Given the description of an element on the screen output the (x, y) to click on. 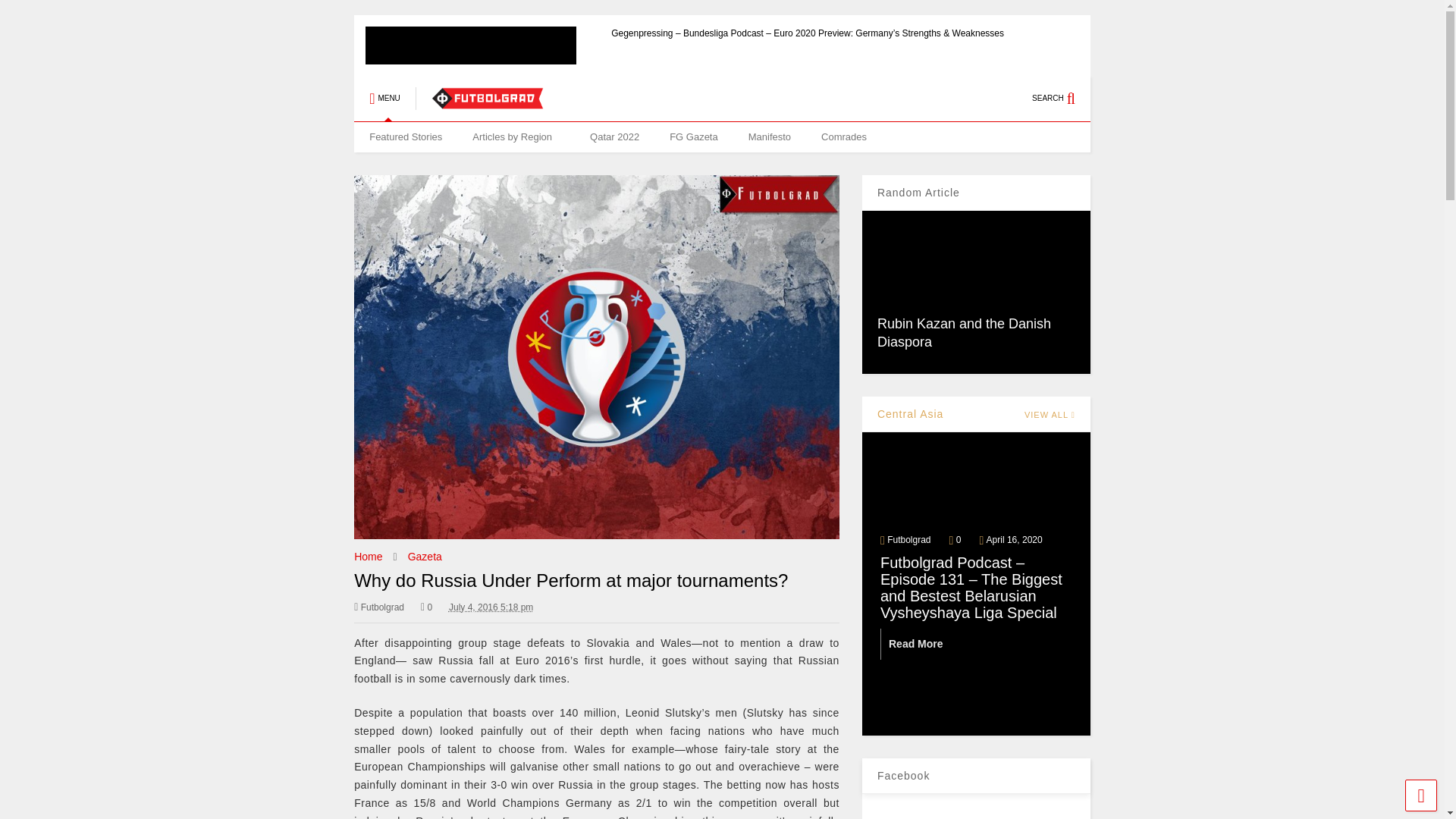
Futbolgrad (378, 607)
home (405, 137)
July 4, 2016 5:18 pm (490, 607)
SEARCH (1061, 98)
Qatar 2022 (614, 137)
Home (367, 556)
Gazeta (424, 556)
Articles by Region (516, 137)
all articles (516, 137)
FG Gazeta (693, 137)
Futbolgrad (486, 102)
Manifesto (769, 137)
Featured Stories (405, 137)
MENU (383, 98)
